Given the description of an element on the screen output the (x, y) to click on. 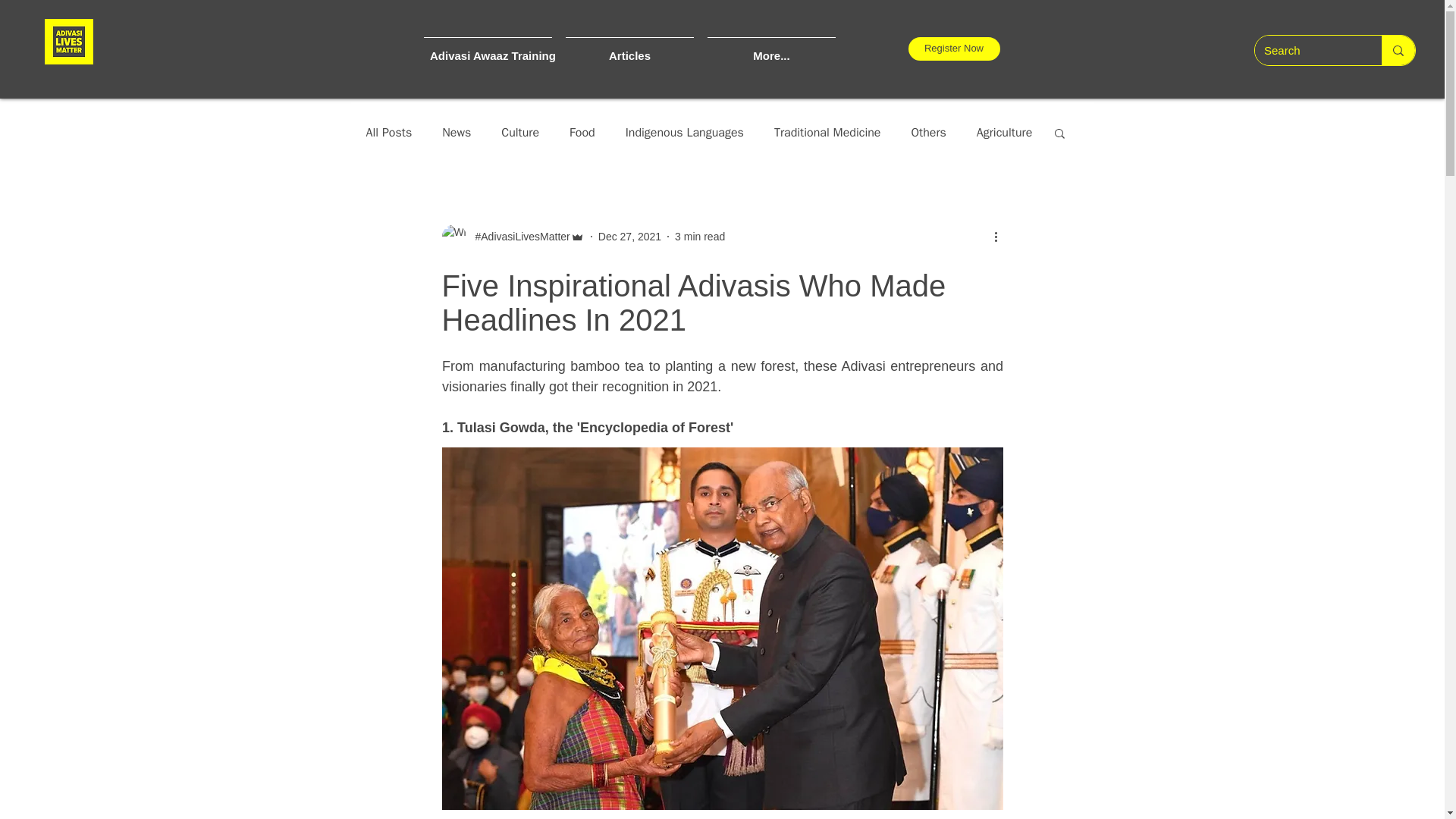
All Posts (388, 132)
Articles (629, 48)
Others (927, 132)
Traditional Medicine (827, 132)
Agriculture (1004, 132)
Adivasi Awaaz Training (487, 48)
Food (582, 132)
Indigenous Languages (685, 132)
Register Now (954, 48)
News (456, 132)
